Given the description of an element on the screen output the (x, y) to click on. 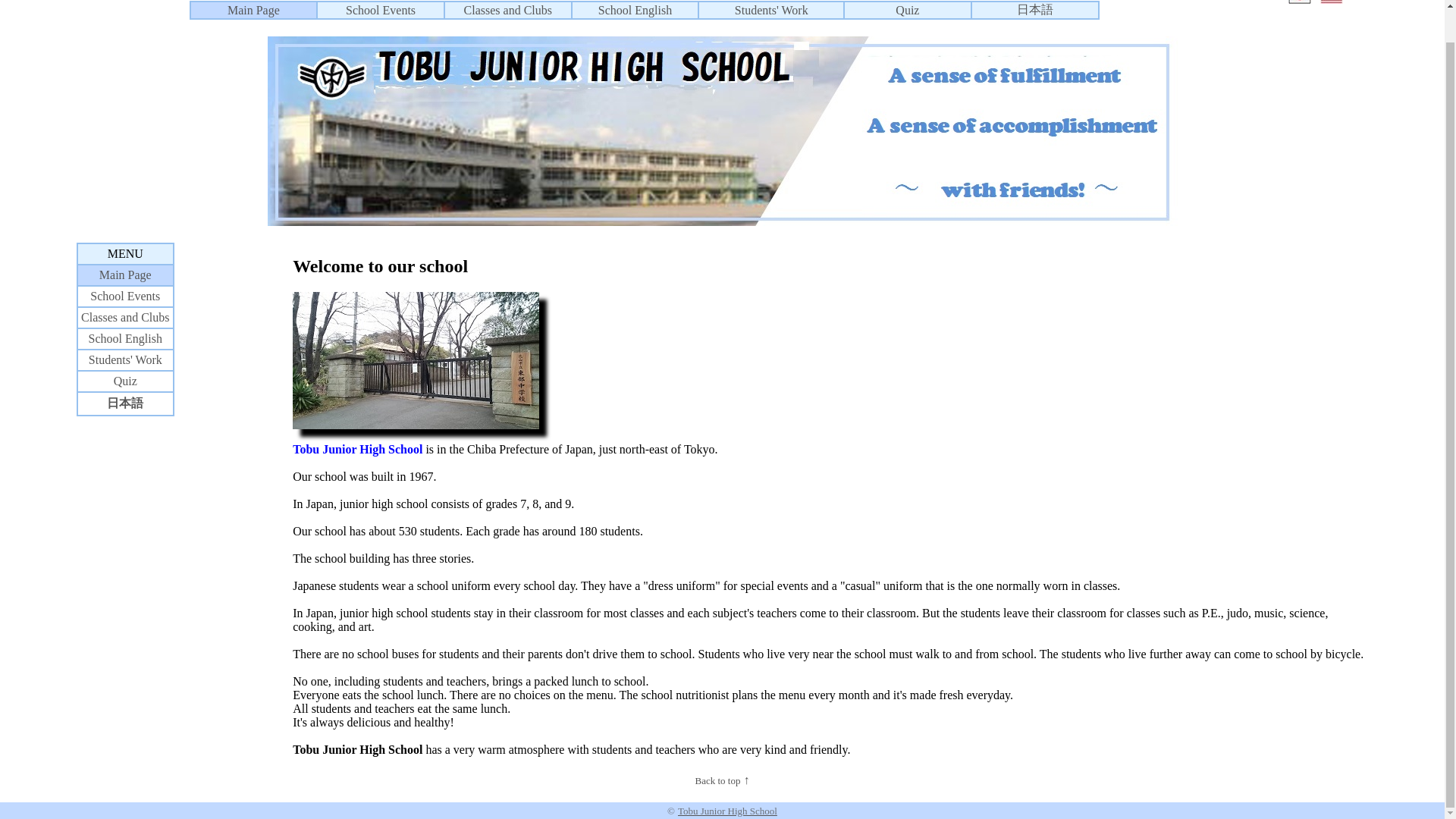
Students' Work (124, 359)
Main Page (253, 9)
Students' Work (771, 9)
Tobu Junior High School (727, 809)
Classes and Clubs (124, 317)
School English (124, 338)
School English (634, 9)
Main Page (125, 274)
School Events (125, 295)
Quiz (124, 380)
Quiz (906, 9)
School Events (380, 9)
Classes and Clubs (507, 9)
